Given the description of an element on the screen output the (x, y) to click on. 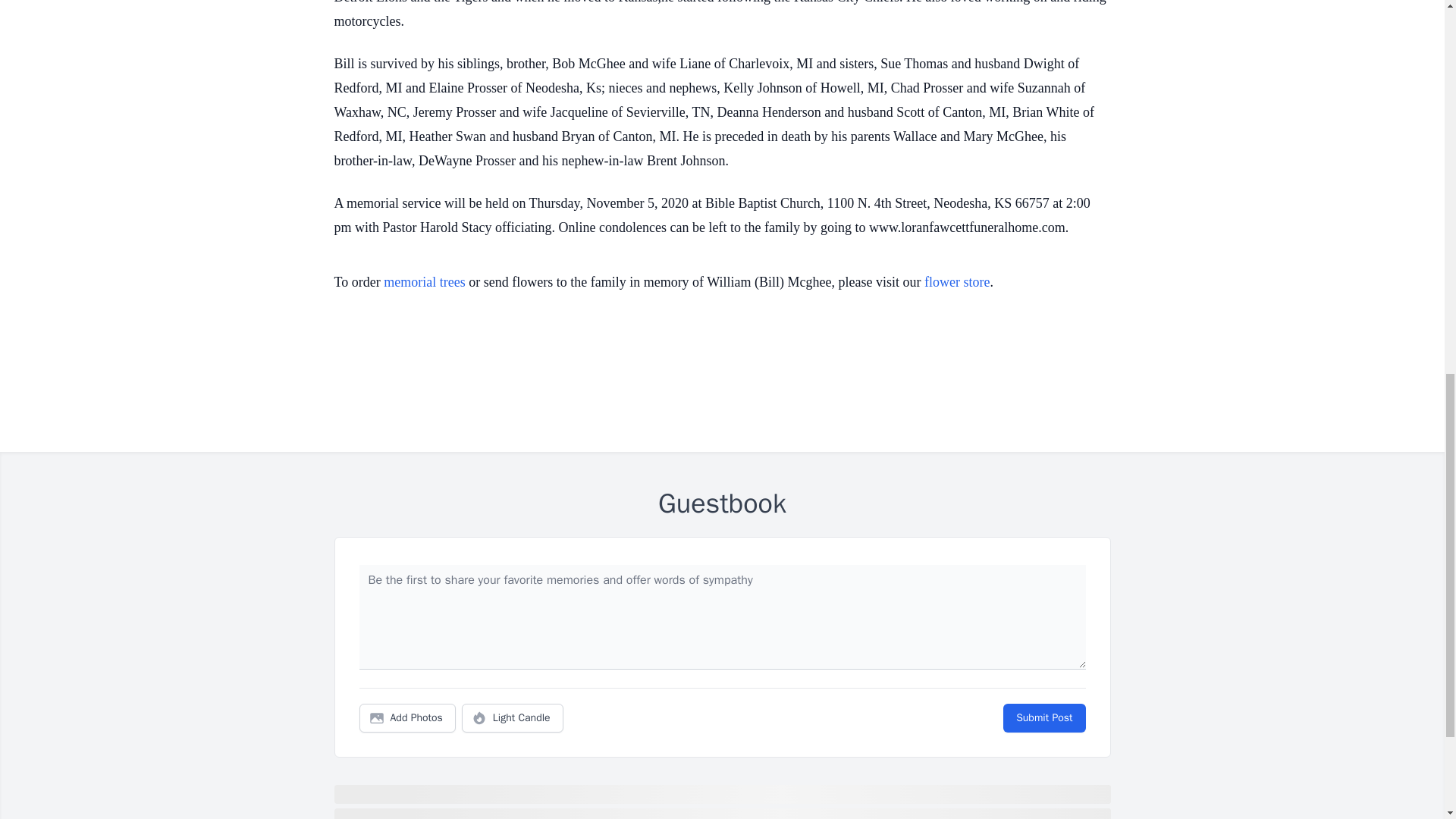
Submit Post (1043, 717)
memorial trees (424, 281)
Add Photos (407, 717)
flower store (957, 281)
Light Candle (512, 717)
